Given the description of an element on the screen output the (x, y) to click on. 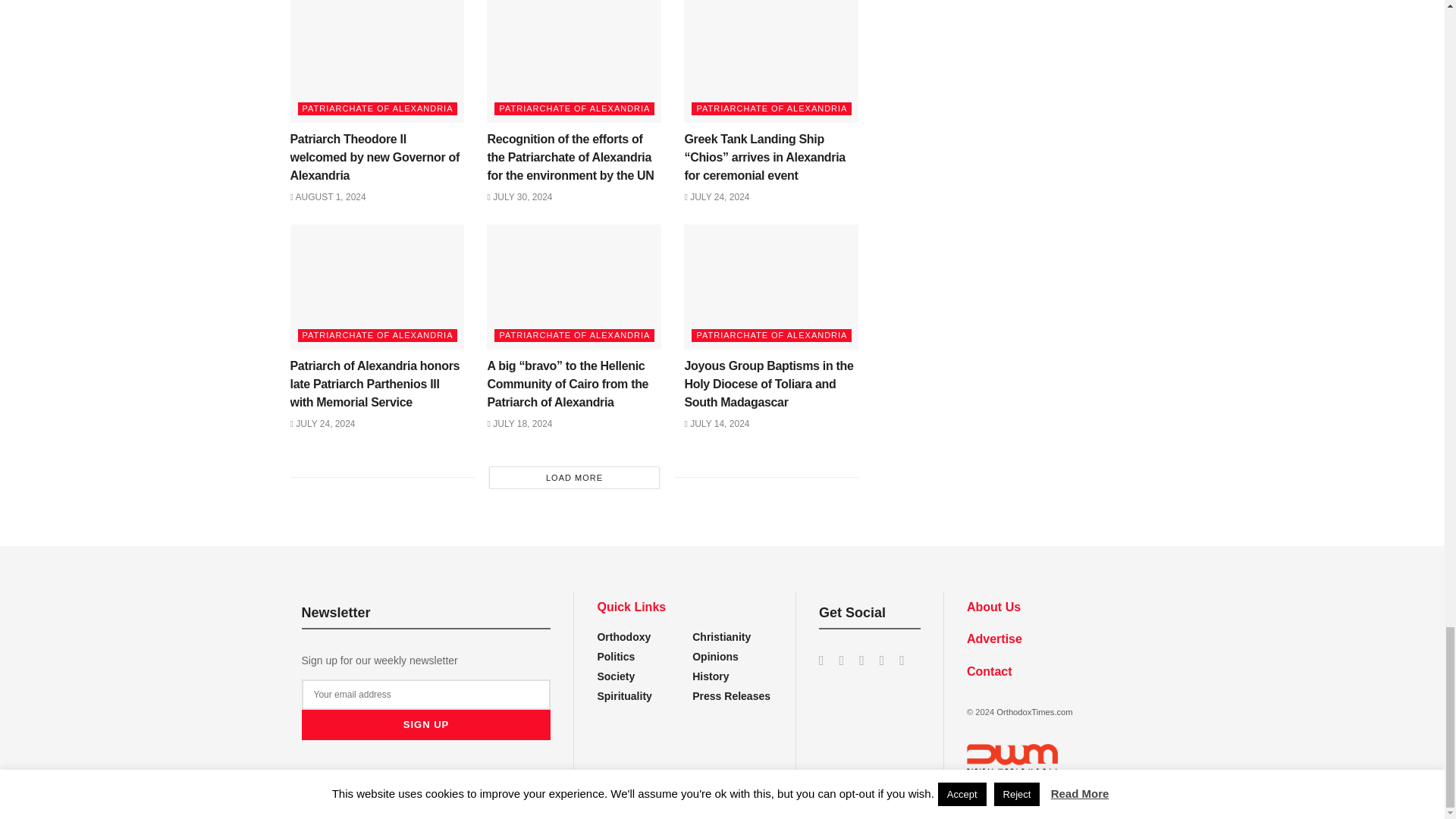
Sign up (426, 725)
OrthodoxTimes.com (1033, 711)
You can add some category description here. (731, 695)
You can add some category description here. (711, 676)
